Given the description of an element on the screen output the (x, y) to click on. 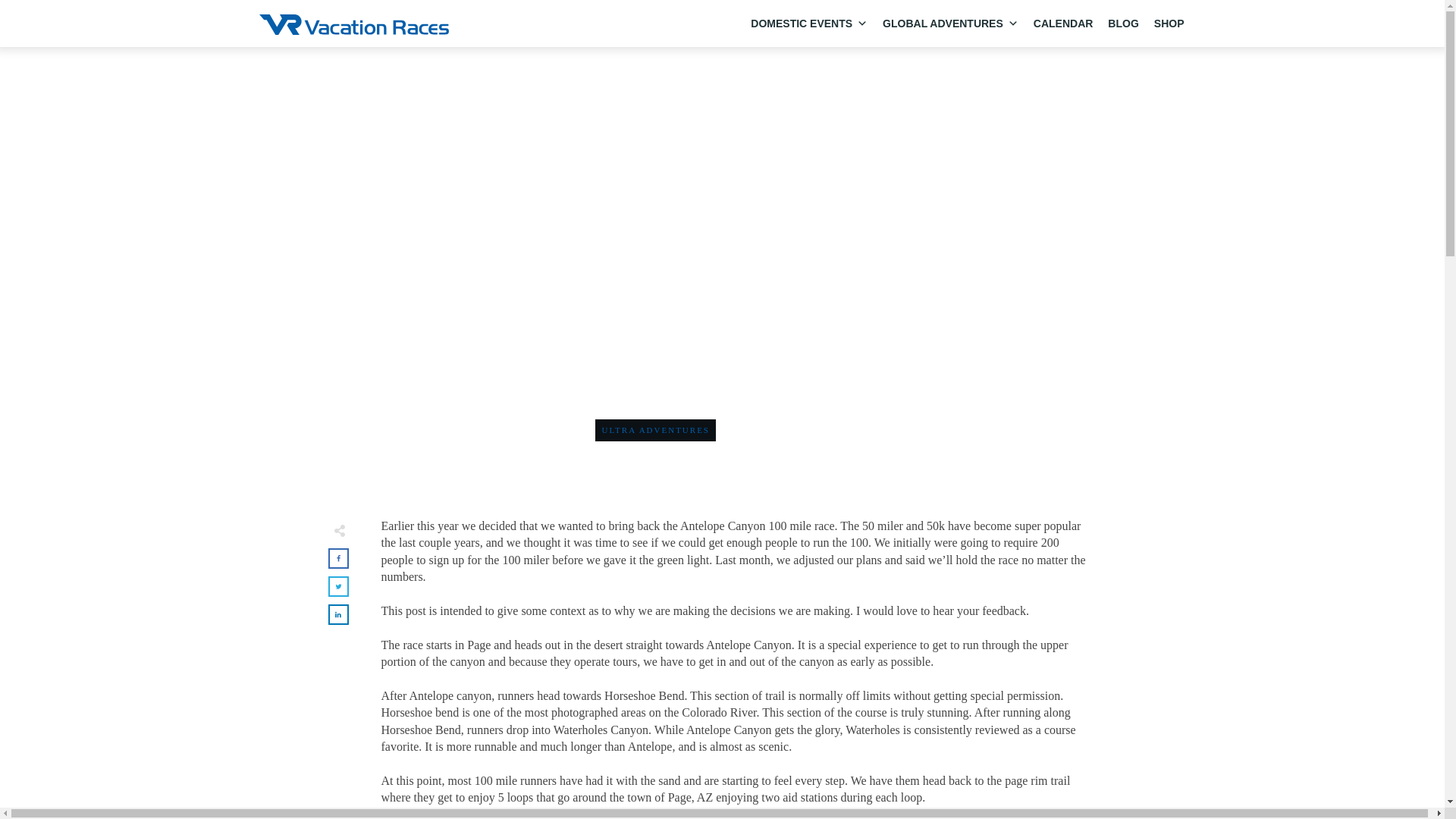
DOMESTIC EVENTS (808, 22)
CALENDAR (1063, 22)
GLOBAL ADVENTURES (950, 22)
Ultra Adventures (655, 429)
